Given the description of an element on the screen output the (x, y) to click on. 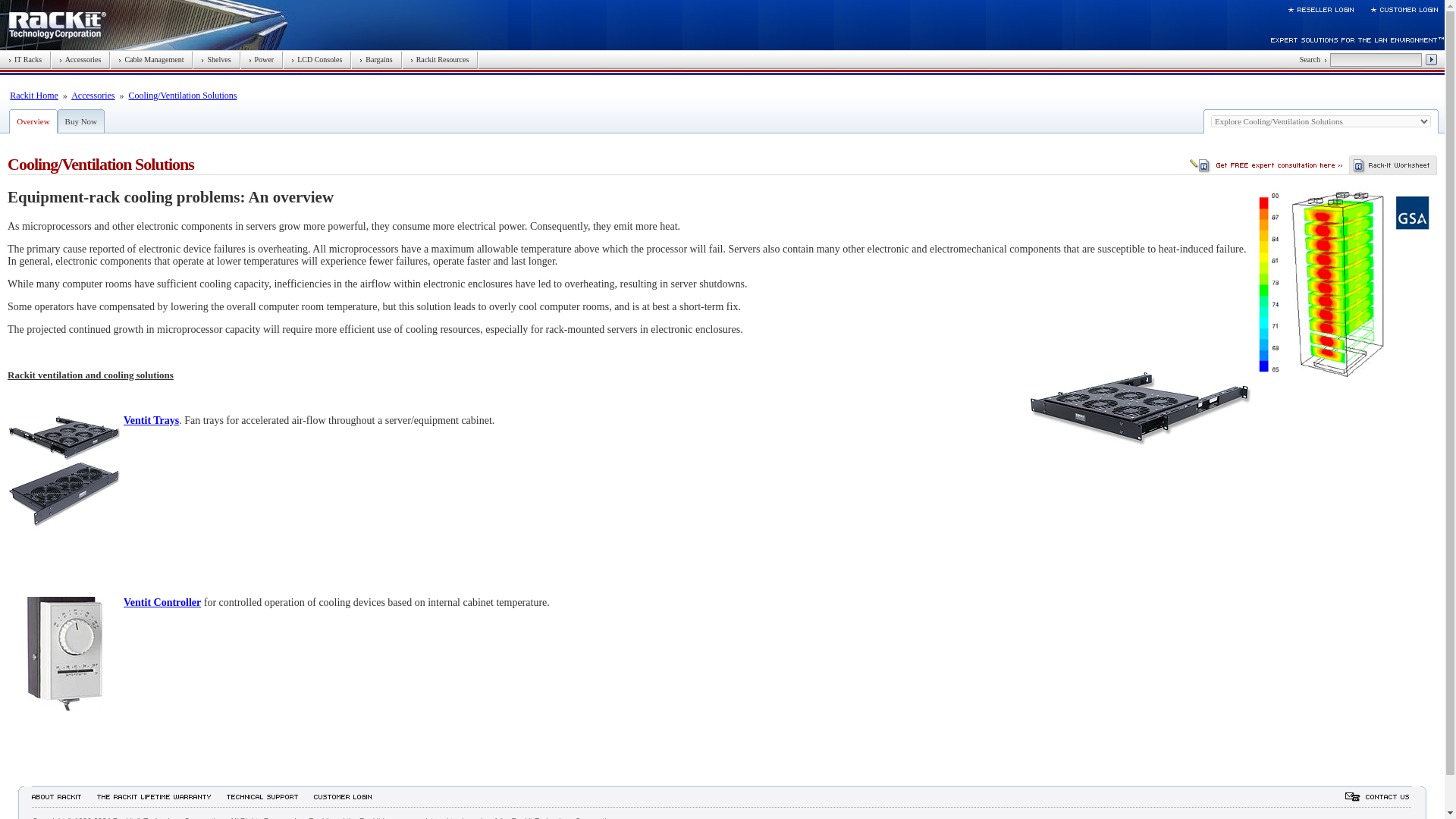
  LCD Consoles (316, 59)
Accessories (93, 95)
  Bargains (375, 59)
  Accessories (79, 59)
Overview (32, 121)
  Power (261, 59)
Buy Now (81, 121)
Government Sales (1412, 212)
Ventit Fan Trays (63, 471)
  Shelves (215, 59)
Rackit Home (34, 95)
  IT Racks (25, 59)
Ventit Trays (151, 419)
Ventit Controller (63, 653)
